Given the description of an element on the screen output the (x, y) to click on. 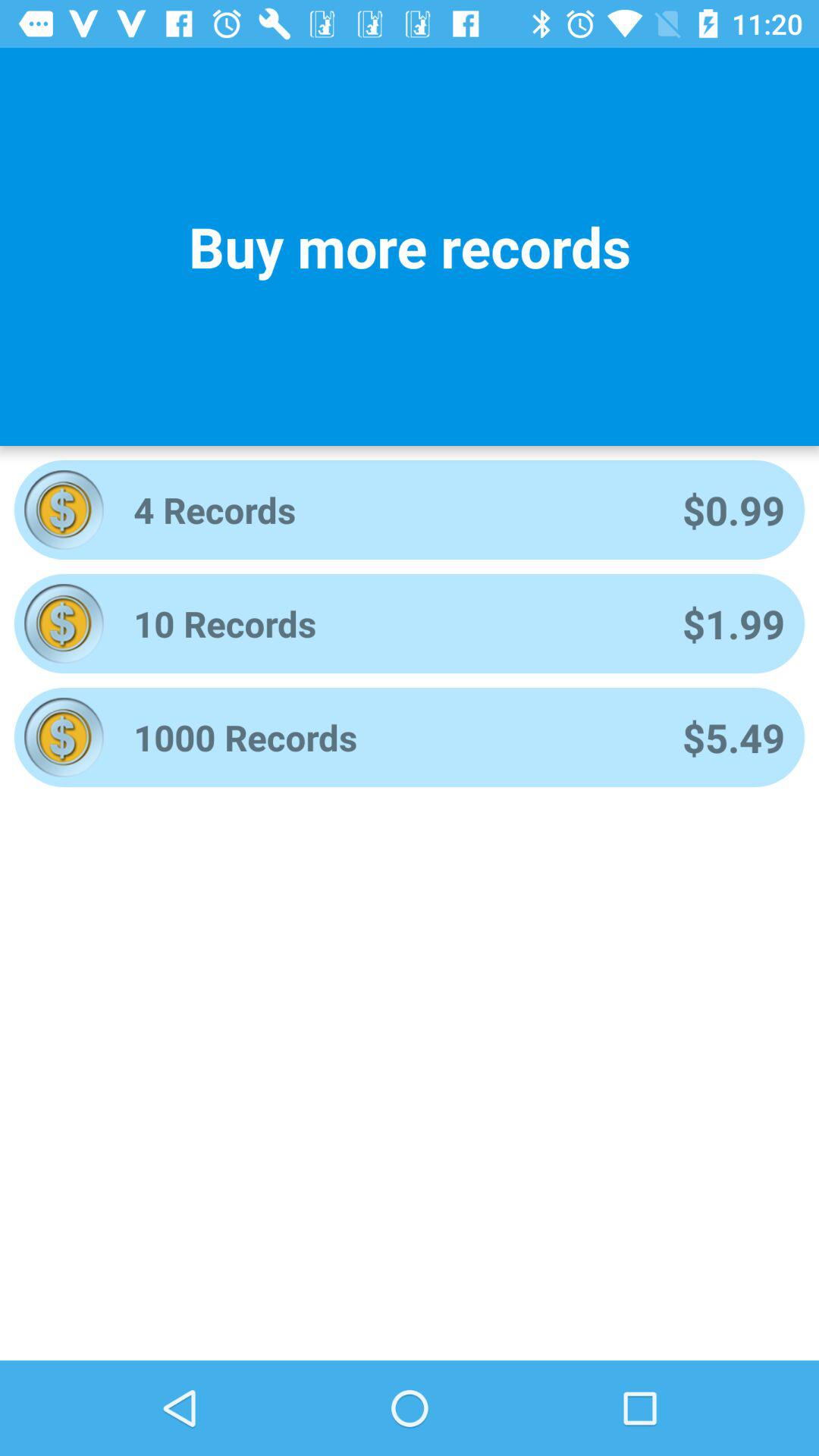
select 1000 records item (387, 736)
